Given the description of an element on the screen output the (x, y) to click on. 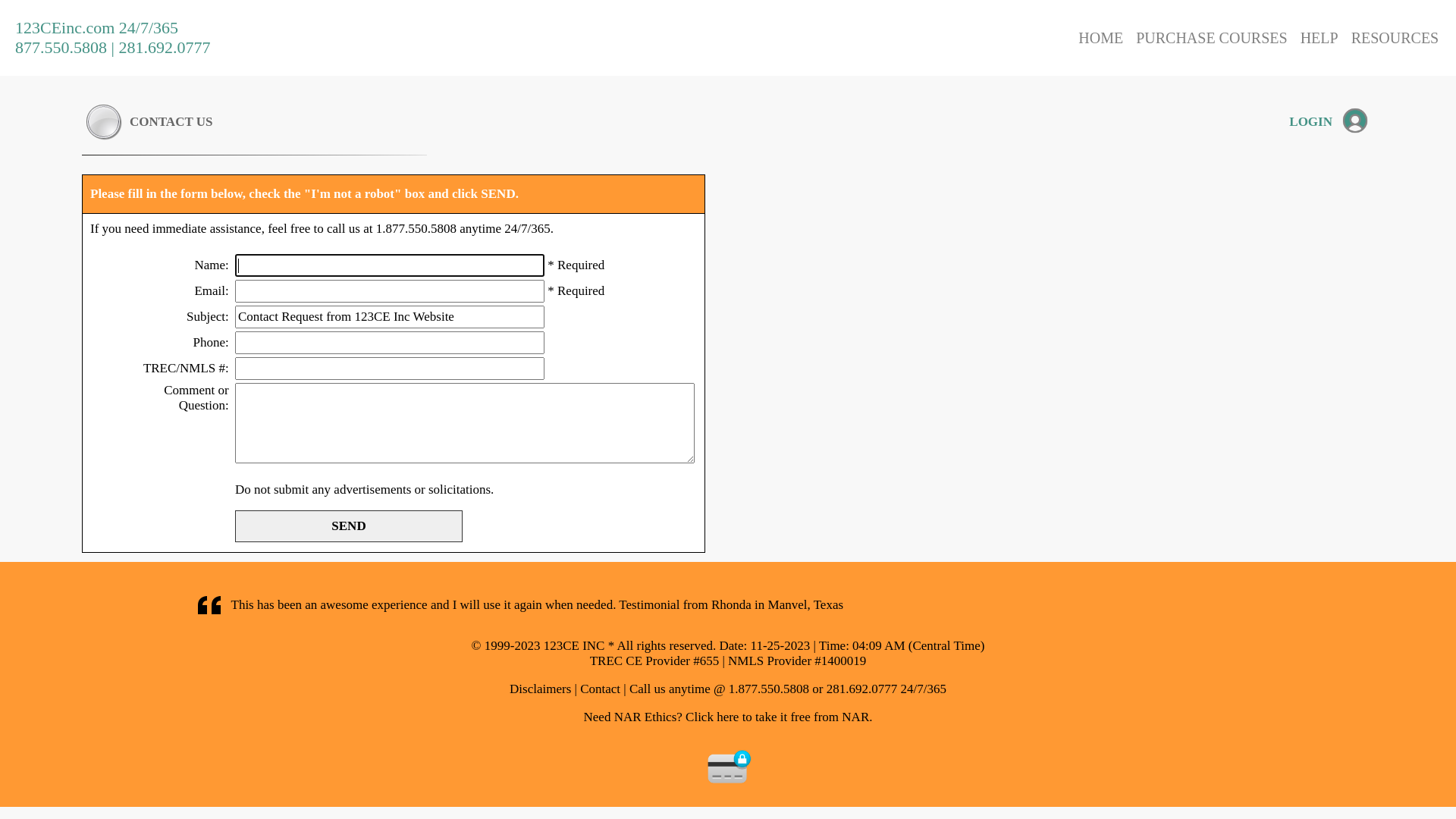
RESOURCES Element type: text (1395, 36)
PURCHASE COURSES Element type: text (1211, 36)
Disclaimers Element type: text (540, 688)
Contact Element type: text (600, 688)
Login Element type: hover (1354, 119)
eCommerce Tested. SSL Secured. Element type: hover (729, 766)
HELP Element type: text (1319, 36)
LOGIN Element type: text (1310, 121)
Need NAR Ethics? Click here to take it free from NAR. Element type: text (727, 716)
SEND Element type: text (348, 526)
HOME Element type: text (1100, 36)
